Given the description of an element on the screen output the (x, y) to click on. 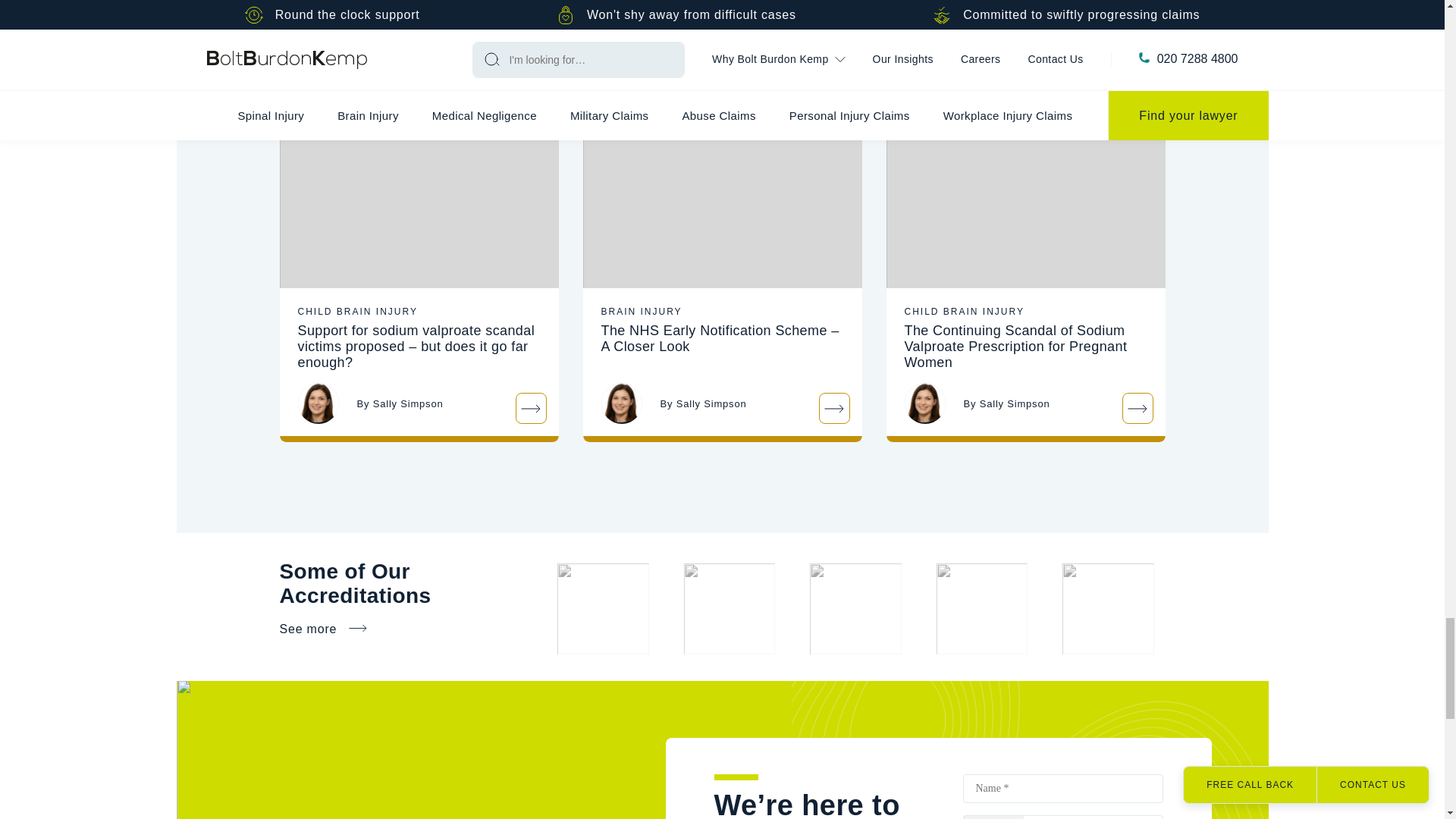
Sally Simpson; (317, 404)
United Kingdom (992, 817)
sodium valproate scandal (418, 195)
Sally Simpson; (620, 404)
Sally Simpson; (924, 404)
